Given the description of an element on the screen output the (x, y) to click on. 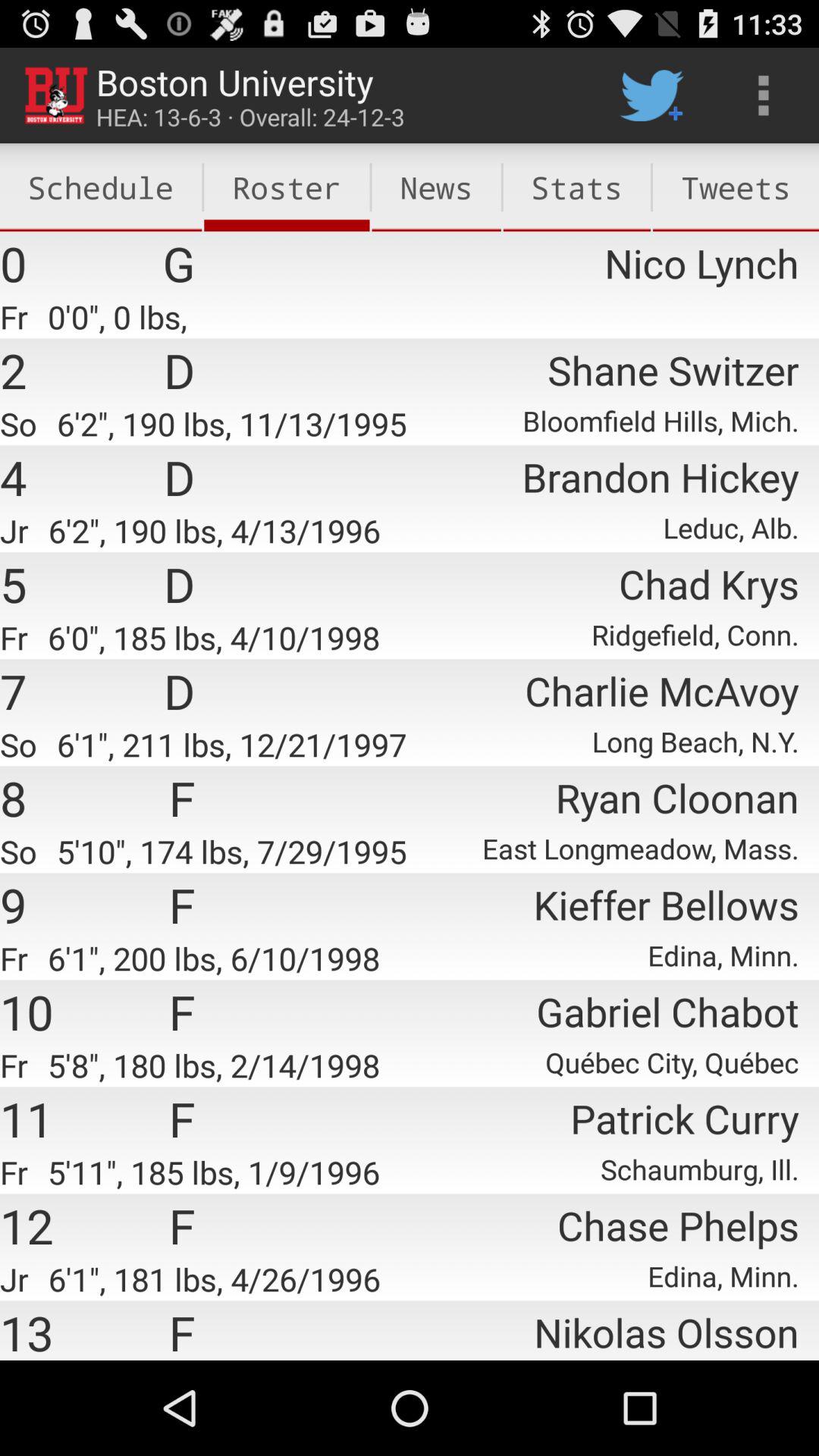
turn on the item to the right of the roster icon (436, 187)
